Given the description of an element on the screen output the (x, y) to click on. 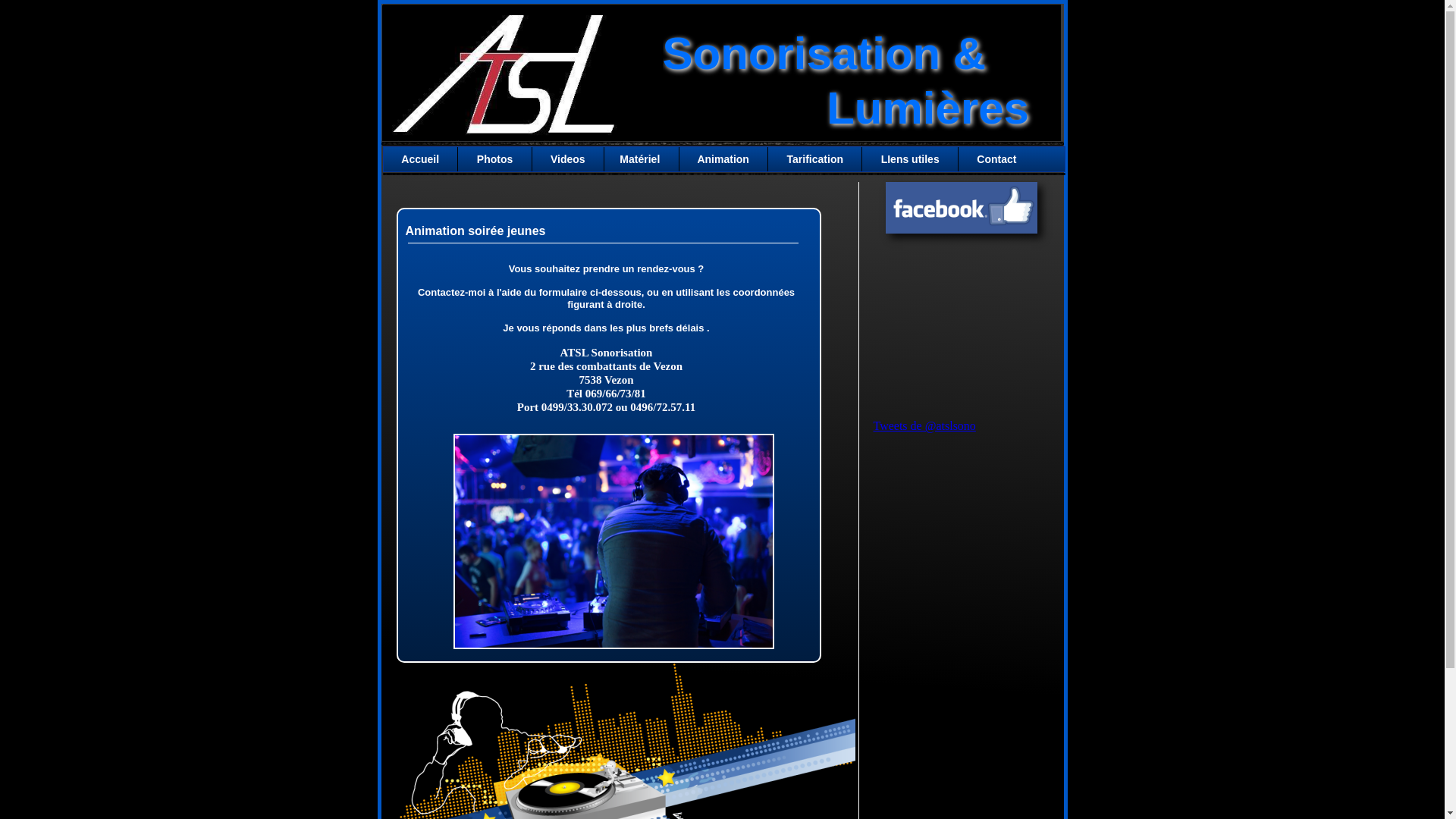
      Photos       Element type: text (494, 159)
  Element type: text (378, 6)
      LIens utiles       Element type: text (910, 159)
      LIens utiles       Element type: text (909, 159)
      Accueil       Element type: text (420, 159)
      Photos       Element type: text (494, 159)
      Tarification       Element type: text (814, 159)
      Videos       Element type: text (567, 159)
      Contact      Element type: text (995, 159)
      Animation       Element type: text (723, 159)
      Animation       Element type: text (723, 159)
      Videos       Element type: text (568, 159)
      Contact      Element type: text (995, 159)
      Accueil       Element type: text (419, 159)
Tweets de @atslsono Element type: text (924, 425)
